Given the description of an element on the screen output the (x, y) to click on. 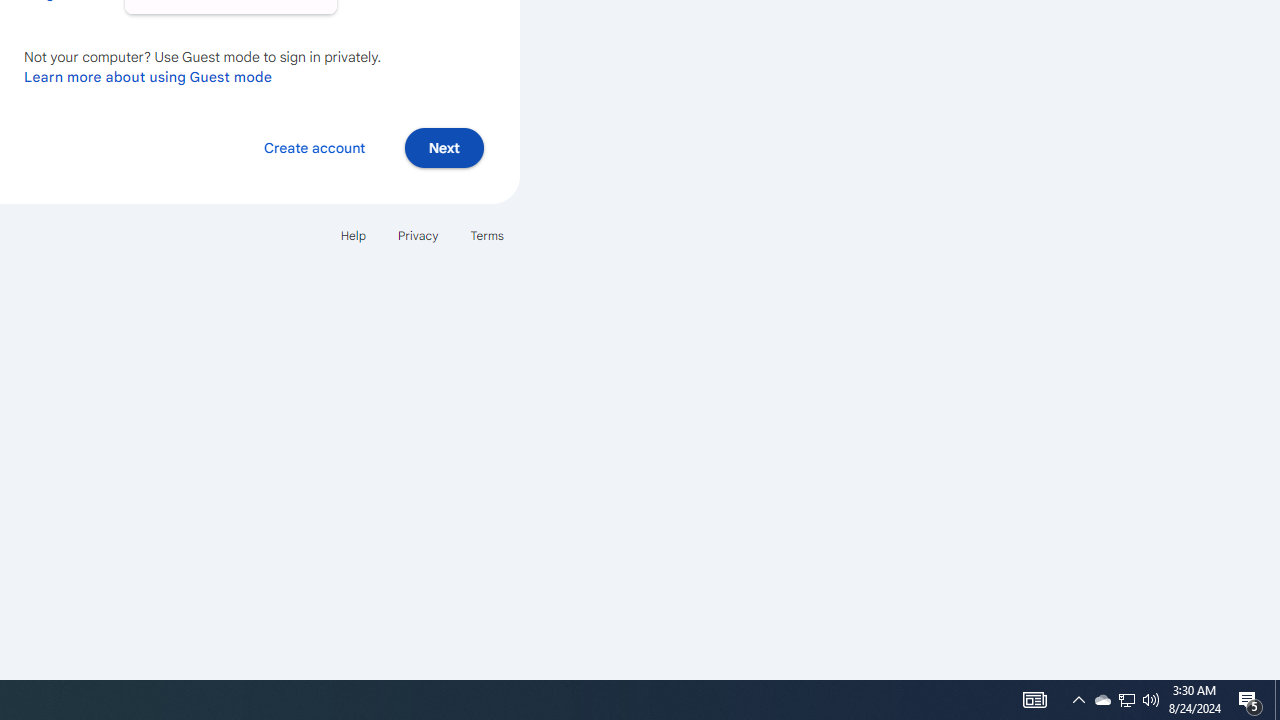
Learn more about using Guest mode (148, 76)
Create account (314, 146)
